Given the description of an element on the screen output the (x, y) to click on. 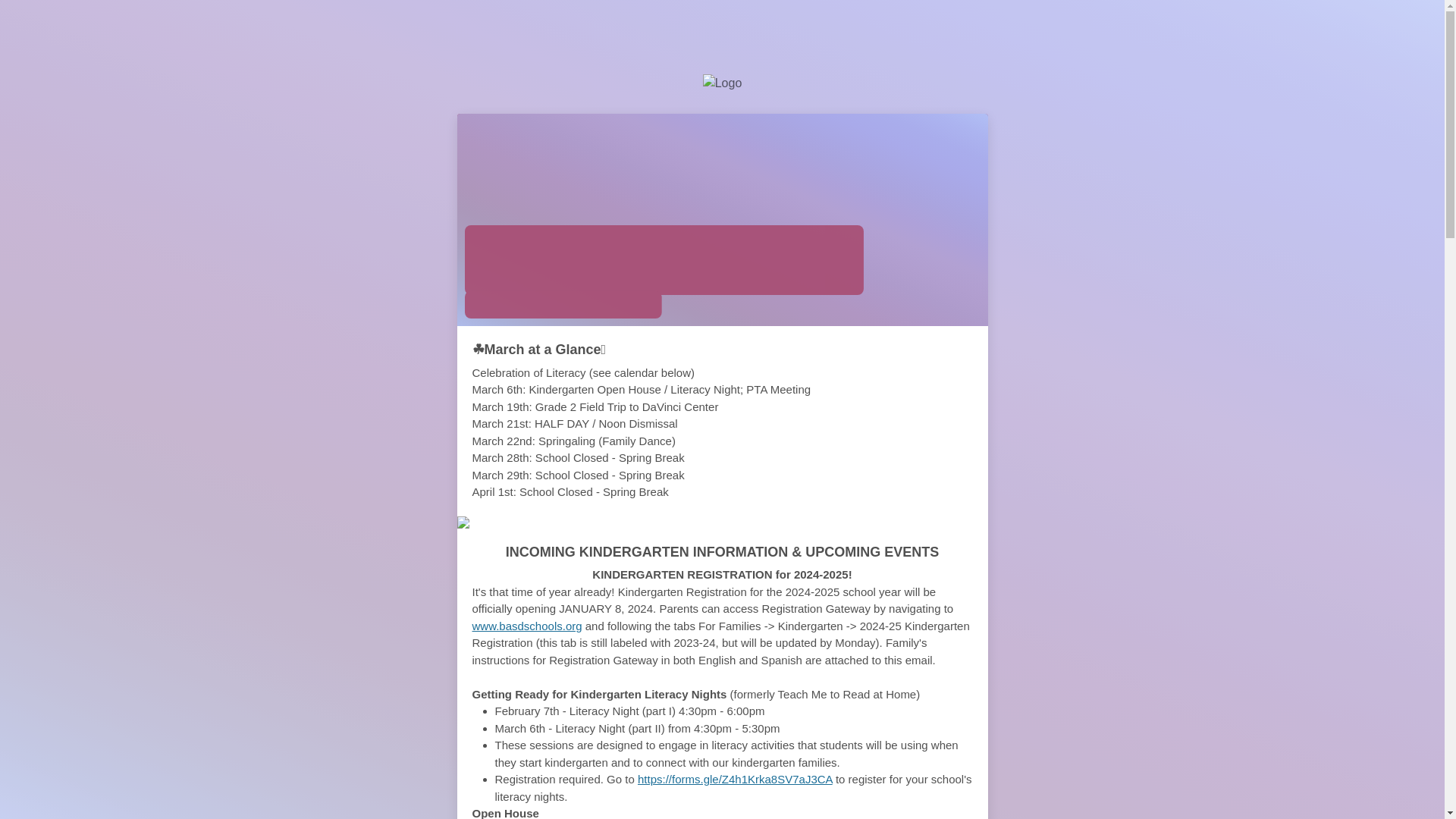
www.basdschools.org (525, 625)
